Given the description of an element on the screen output the (x, y) to click on. 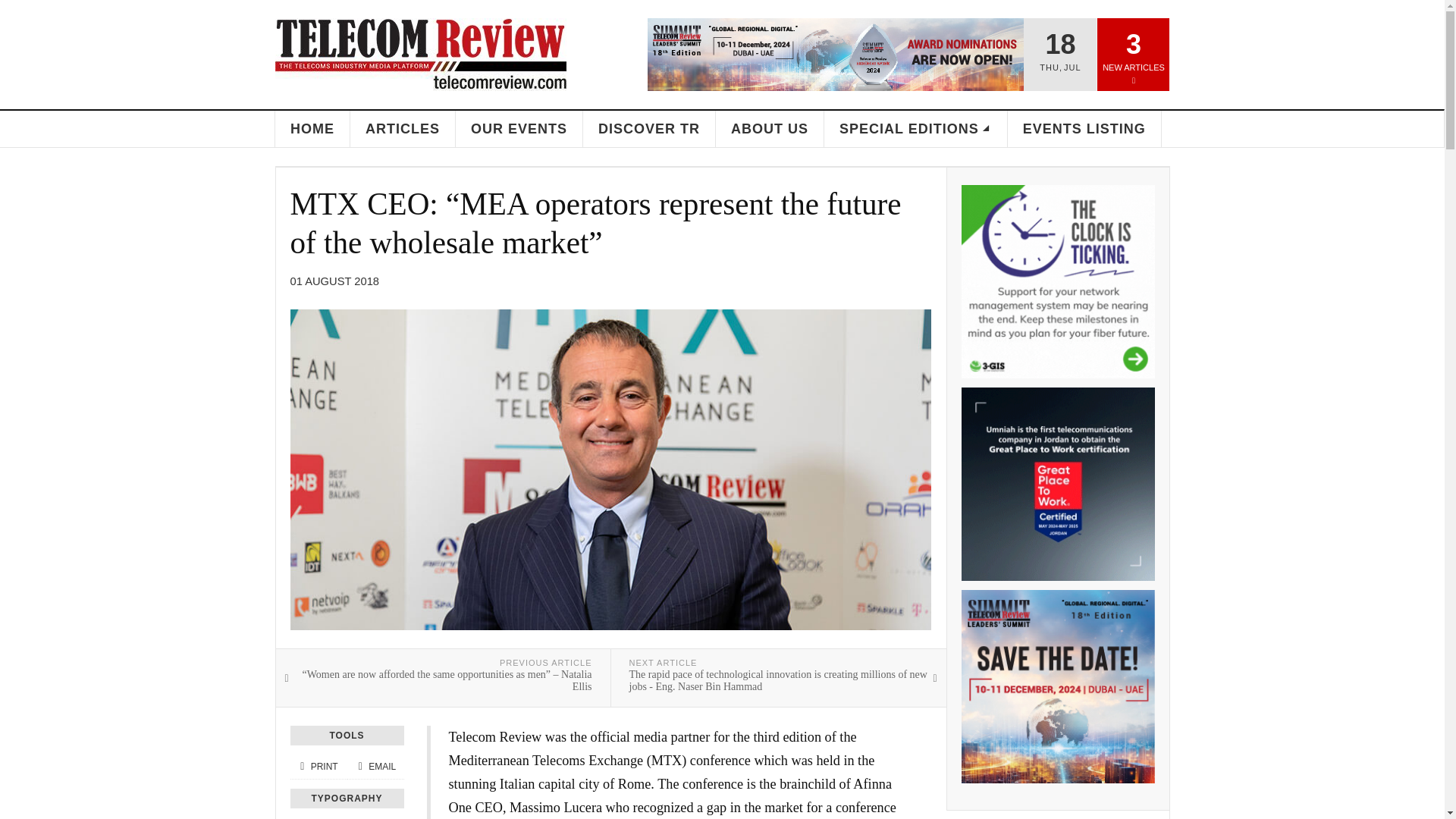
2024 07 TRS Awards Top WB (835, 54)
Published:  (333, 281)
2024 07 3GIS Top Side WB (1057, 281)
Print (318, 766)
HOME (312, 128)
Email (375, 766)
2024 03 TRS WB (1057, 685)
2024 07 Umniah Jordan WB (1057, 483)
Telecom Review (420, 54)
